Given the description of an element on the screen output the (x, y) to click on. 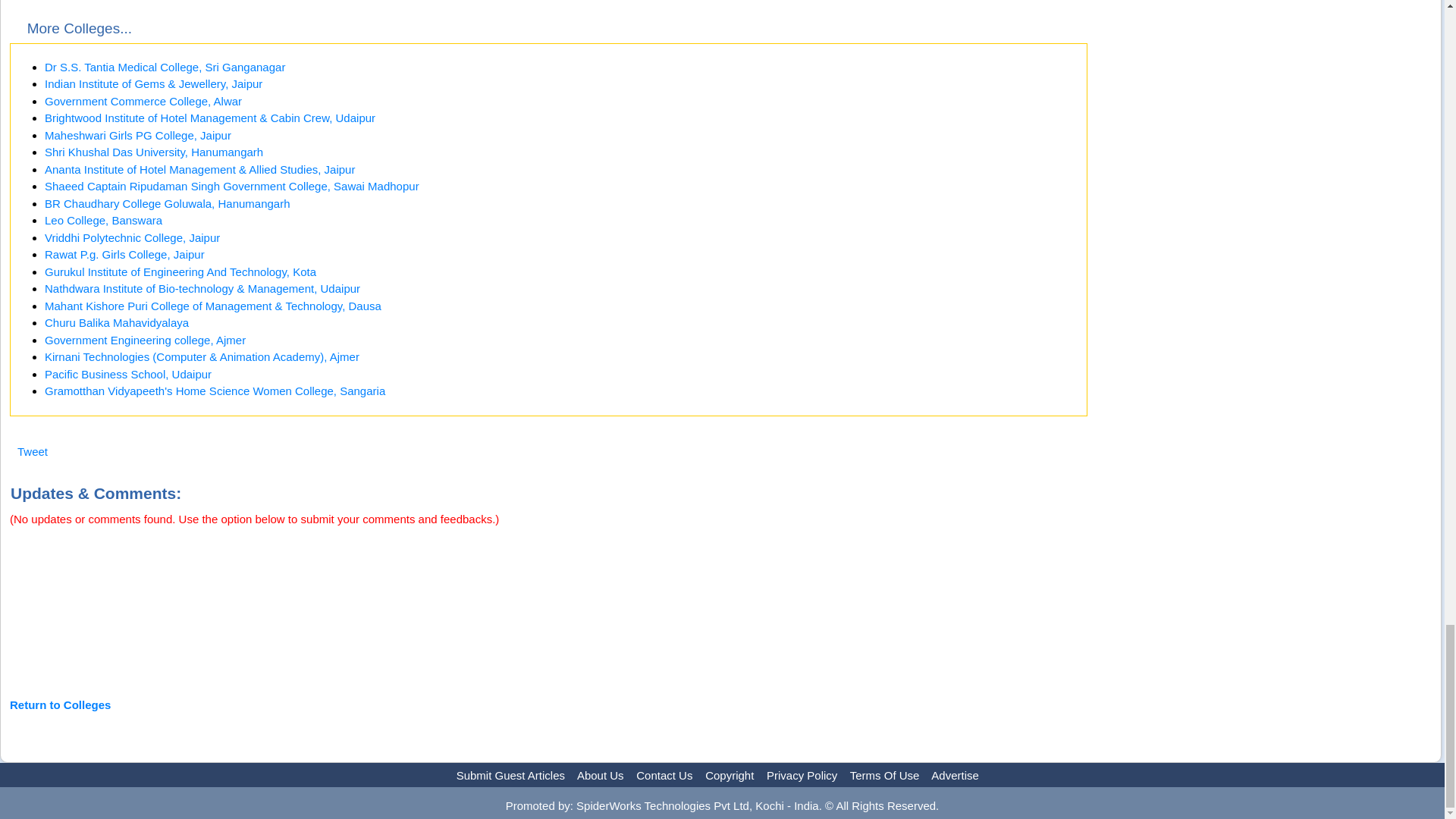
Government Commerce College, Alwar (143, 101)
Shri Khushal Das University (154, 151)
Rawat P.g. Girls College (125, 254)
Shaeed Captain Ripudaman Singh Government College (232, 185)
Gurukul Institute of Engineering And Technology (180, 271)
Churu Balika Mahavidyalaya (117, 322)
Vriddhi Polytechnic College (132, 237)
Dr S.S. Tantia Medical College, Sri Ganganagar (165, 66)
Government Engineering college, Ajmer (145, 339)
Maheshwari Girls PG College (138, 134)
